Given the description of an element on the screen output the (x, y) to click on. 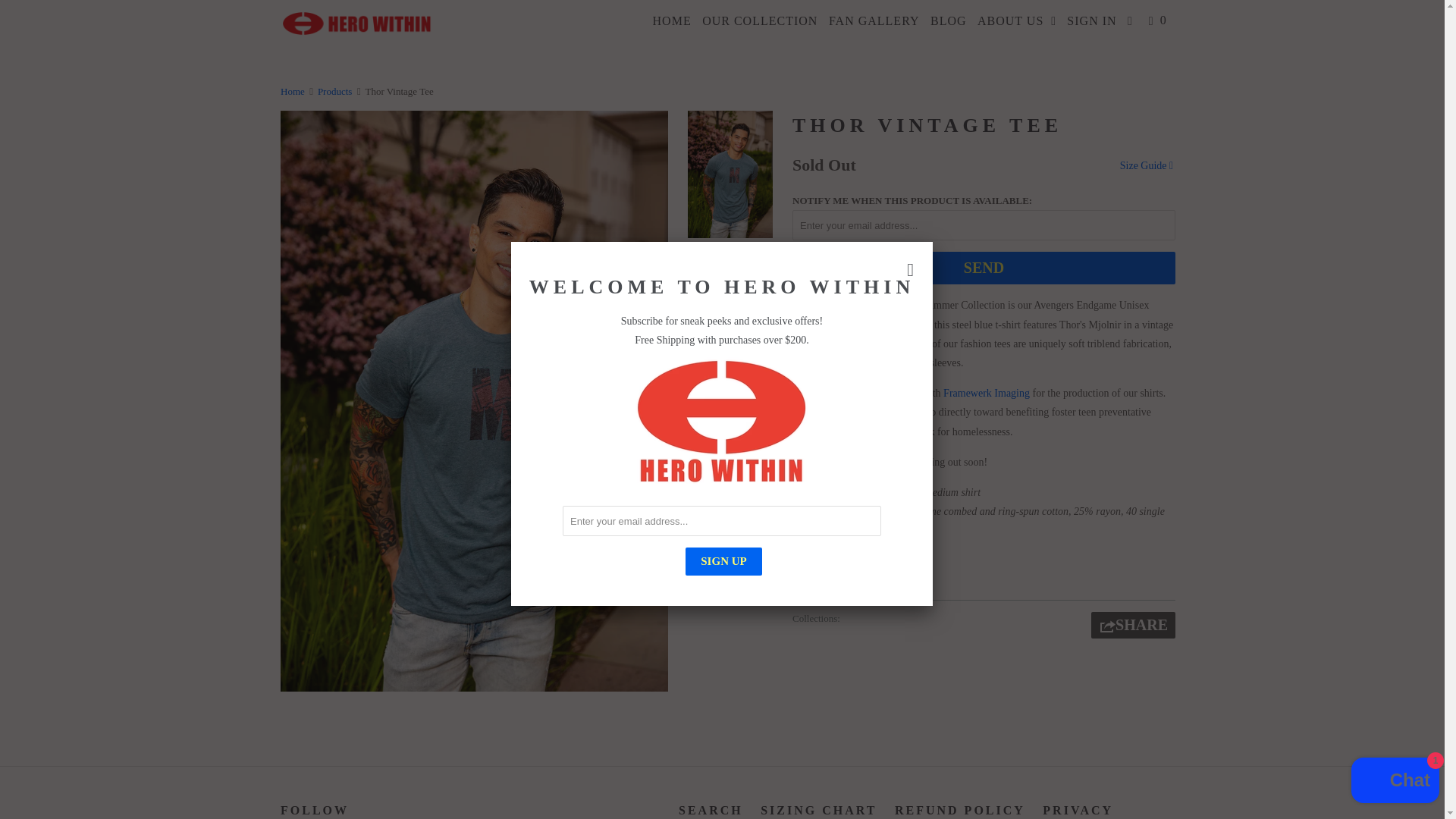
ABOUT US   (1017, 21)
SIGN IN (1091, 21)
My Account  (1091, 21)
Send (983, 267)
Framewerk Imaging (986, 392)
BLOG (948, 21)
Shopify online store chat (1395, 781)
Home (292, 91)
0 (1159, 21)
Hero Within (292, 91)
Send (983, 267)
FAN GALLERY (874, 21)
OUR COLLECTION (759, 21)
Products (334, 91)
Sign Up (723, 561)
